Given the description of an element on the screen output the (x, y) to click on. 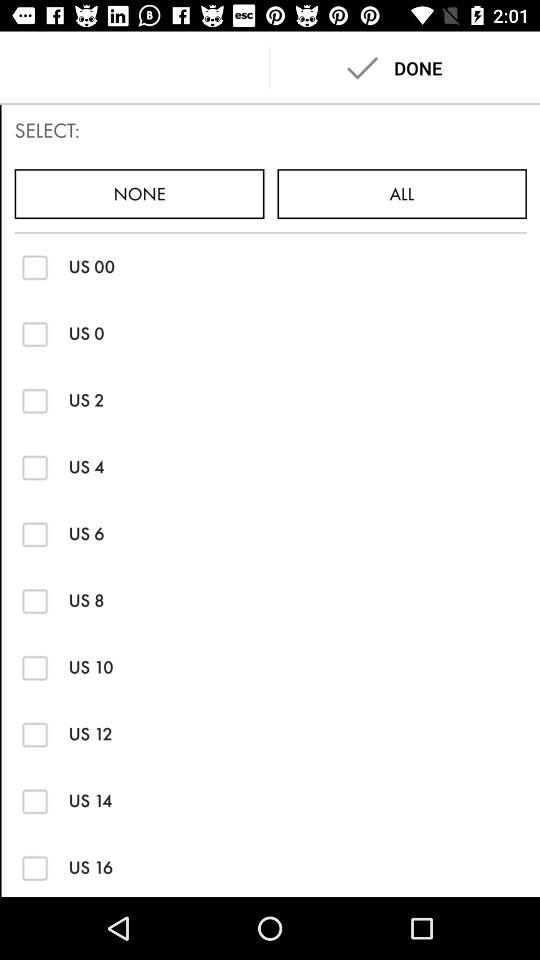
check the box (34, 533)
